Given the description of an element on the screen output the (x, y) to click on. 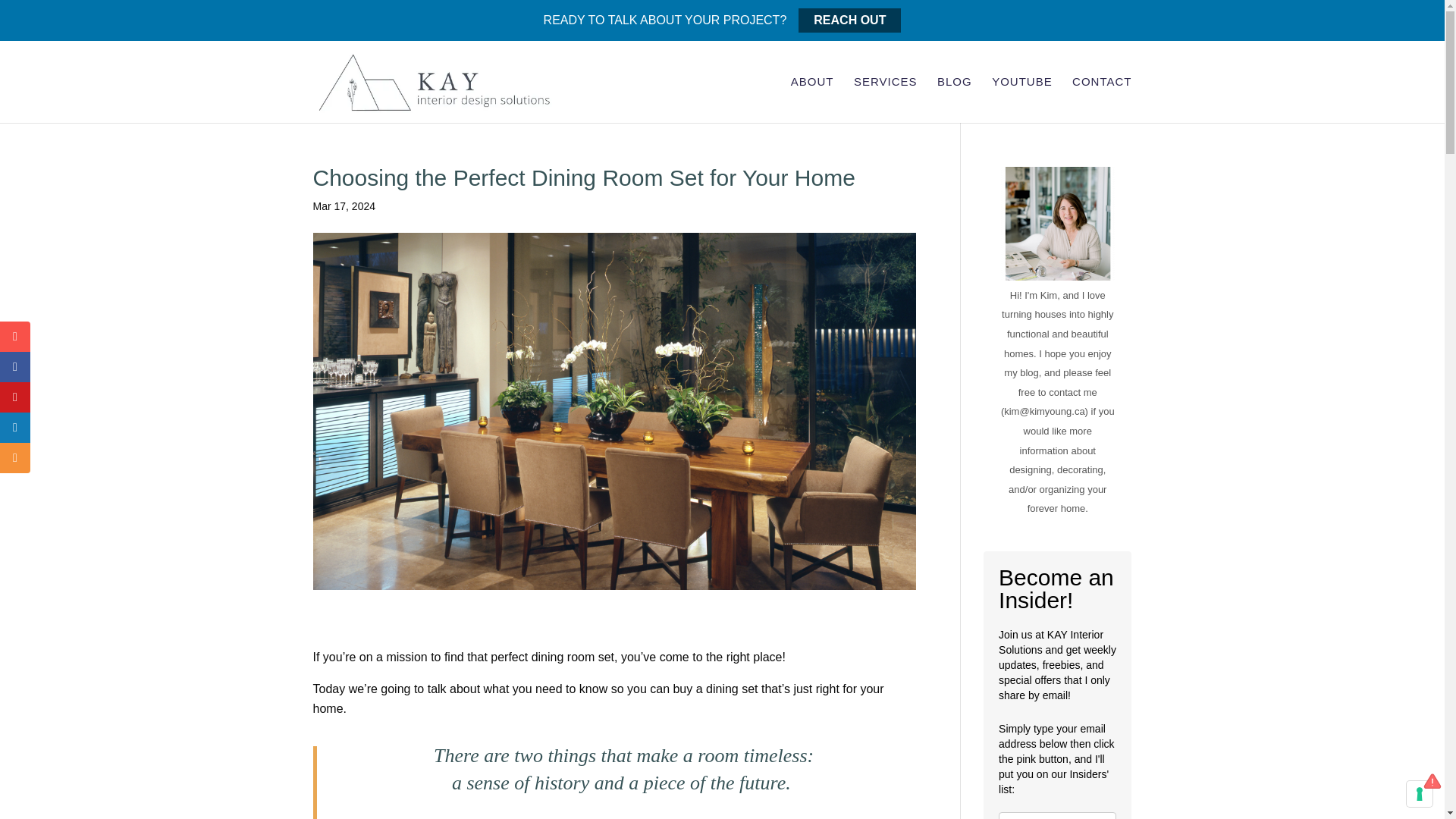
REACH OUT (849, 20)
CONTACT (1101, 99)
YOUTUBE (1021, 99)
SERVICES (885, 99)
ABOUT (812, 99)
BLOG (954, 99)
